Given the description of an element on the screen output the (x, y) to click on. 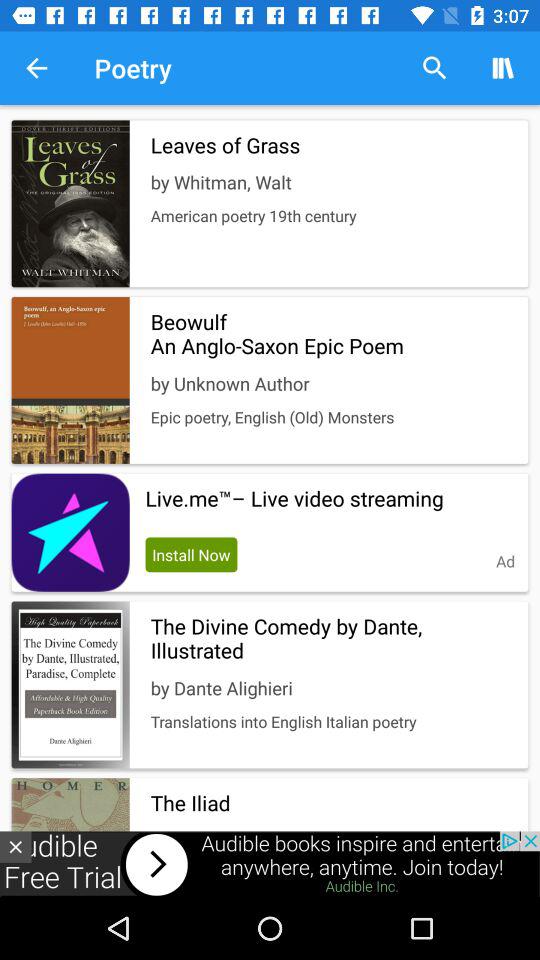
advertisement (270, 864)
